Given the description of an element on the screen output the (x, y) to click on. 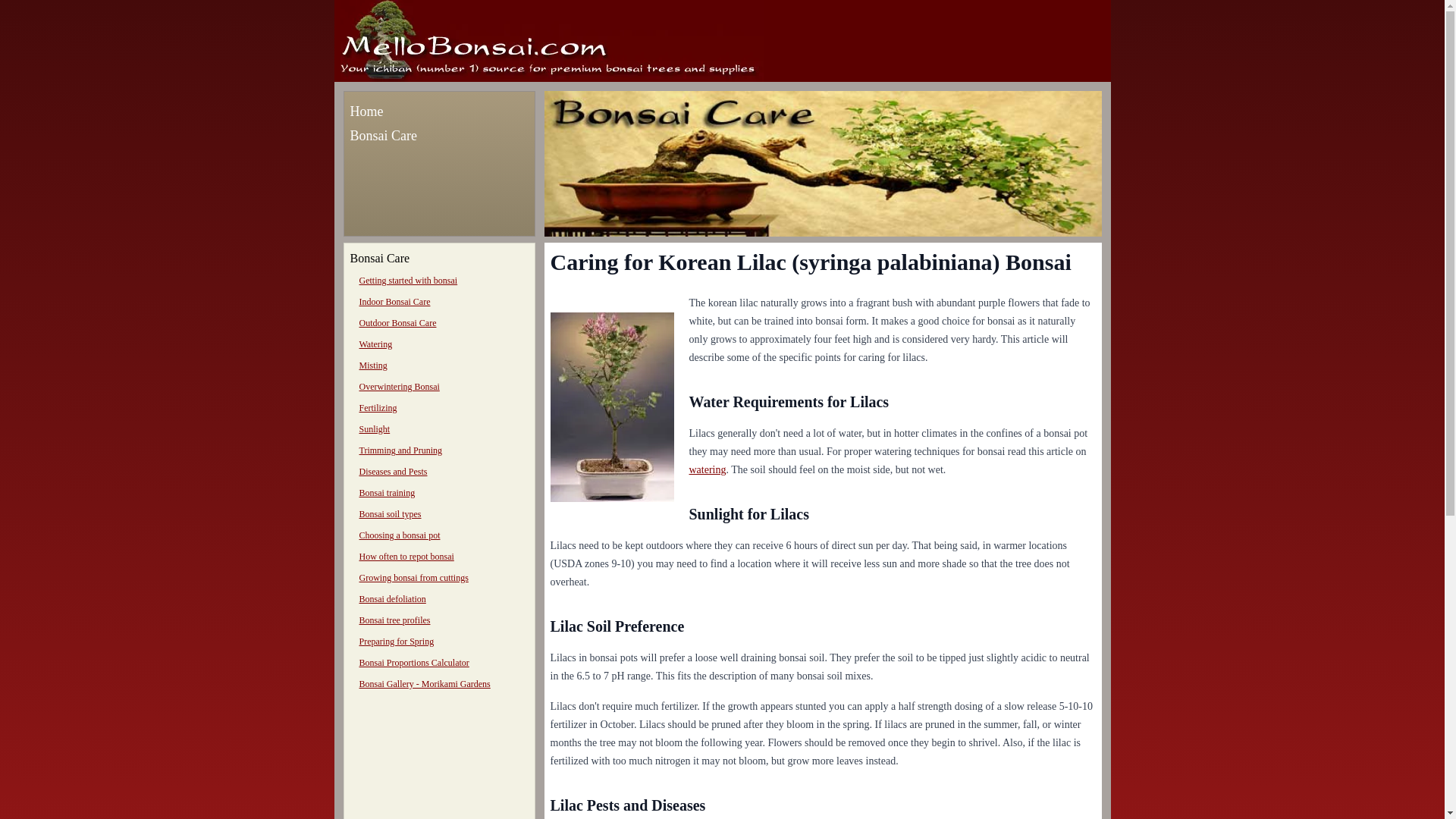
Sunlight (374, 429)
Misting (373, 365)
Indoor Bonsai Care (394, 301)
Outdoor Bonsai Care (397, 322)
Bonsai Gallery - Morikami Gardens (424, 683)
Bonsai tree profiles (394, 620)
Overwintering Bonsai (399, 386)
Bonsai Care (383, 135)
Growing bonsai from cuttings (413, 577)
Bonsai soil types (390, 513)
